Given the description of an element on the screen output the (x, y) to click on. 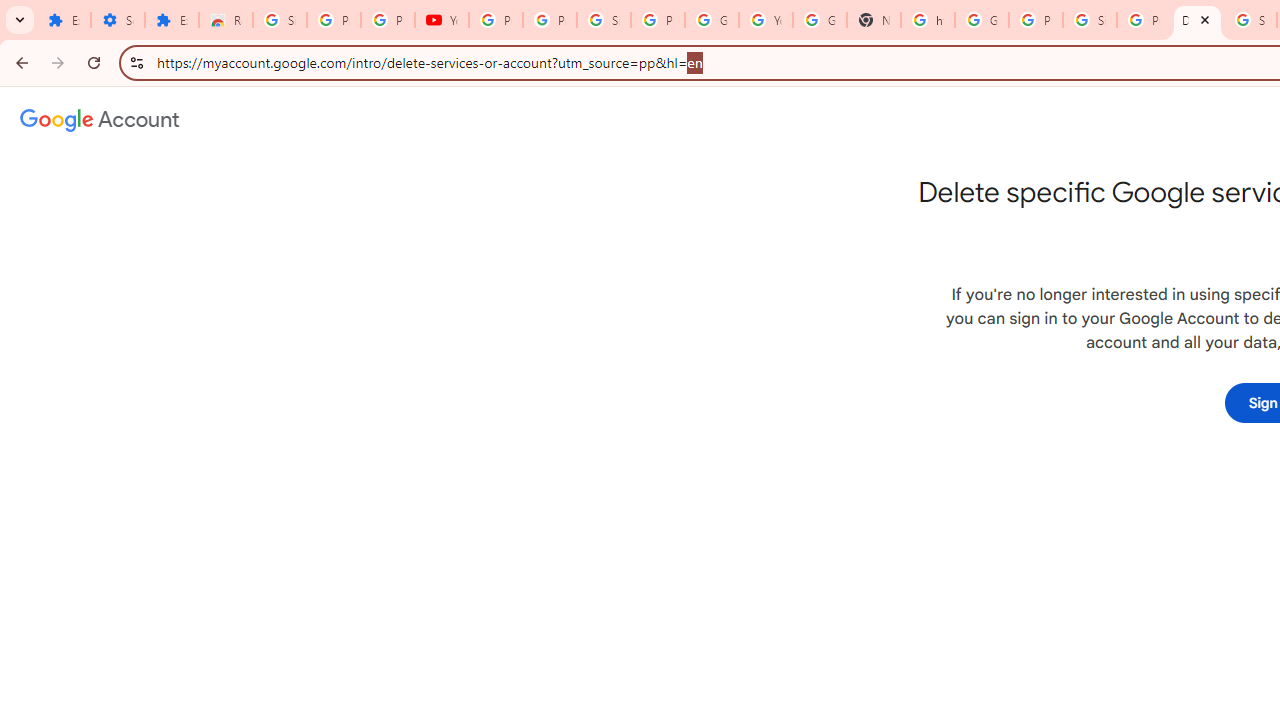
Settings (117, 20)
Extensions (63, 20)
New Tab (874, 20)
YouTube (441, 20)
Sign in - Google Accounts (280, 20)
Google Account settings (100, 120)
